Given the description of an element on the screen output the (x, y) to click on. 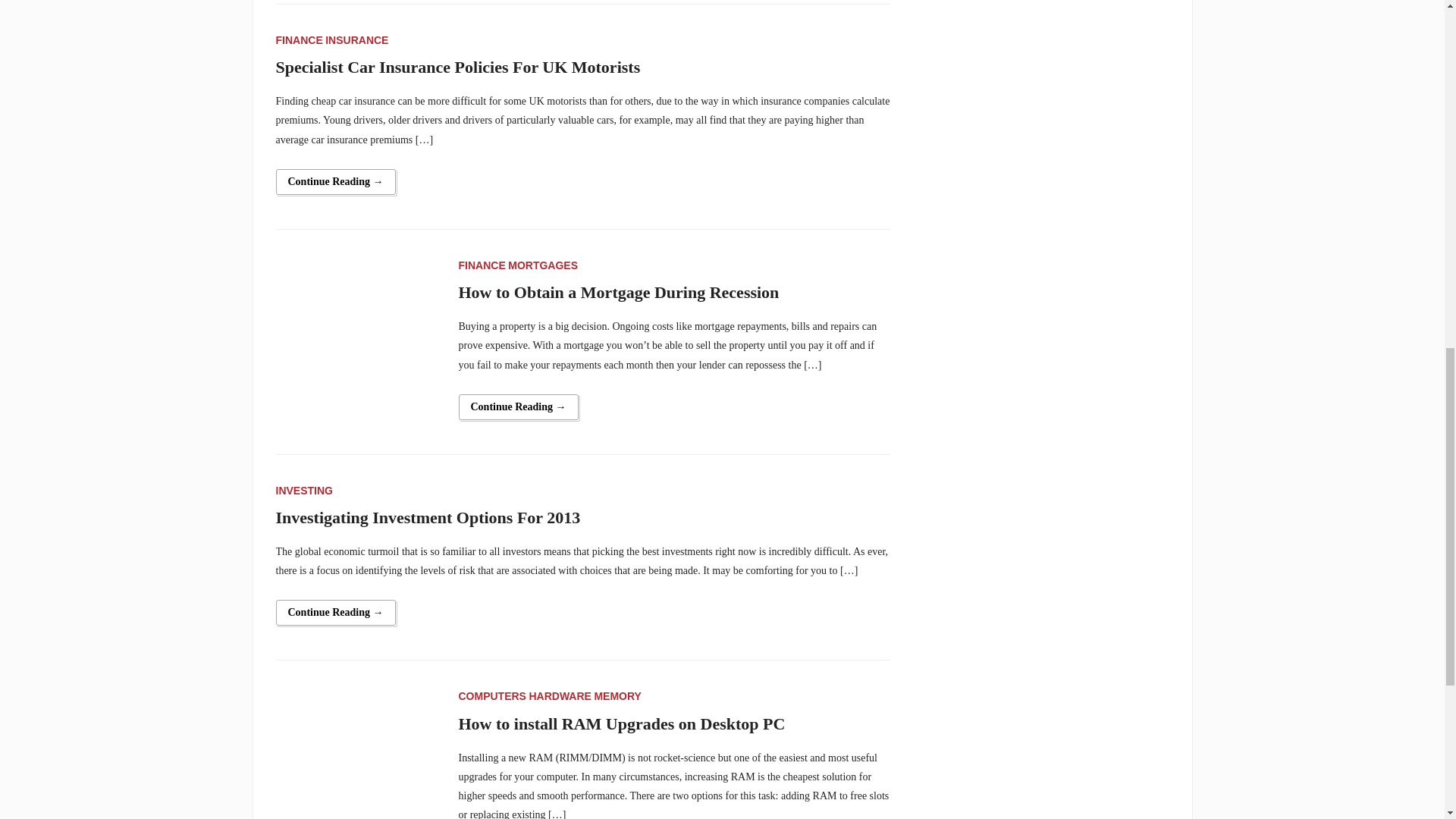
Permalink to Investigating Investment Options For 2013 (336, 612)
How to Obtain a Mortgage During Recession (357, 337)
Permalink to How to Obtain a Mortgage During Recession (518, 406)
How to install RAM Upgrades on Desktop PC (357, 767)
